Given the description of an element on the screen output the (x, y) to click on. 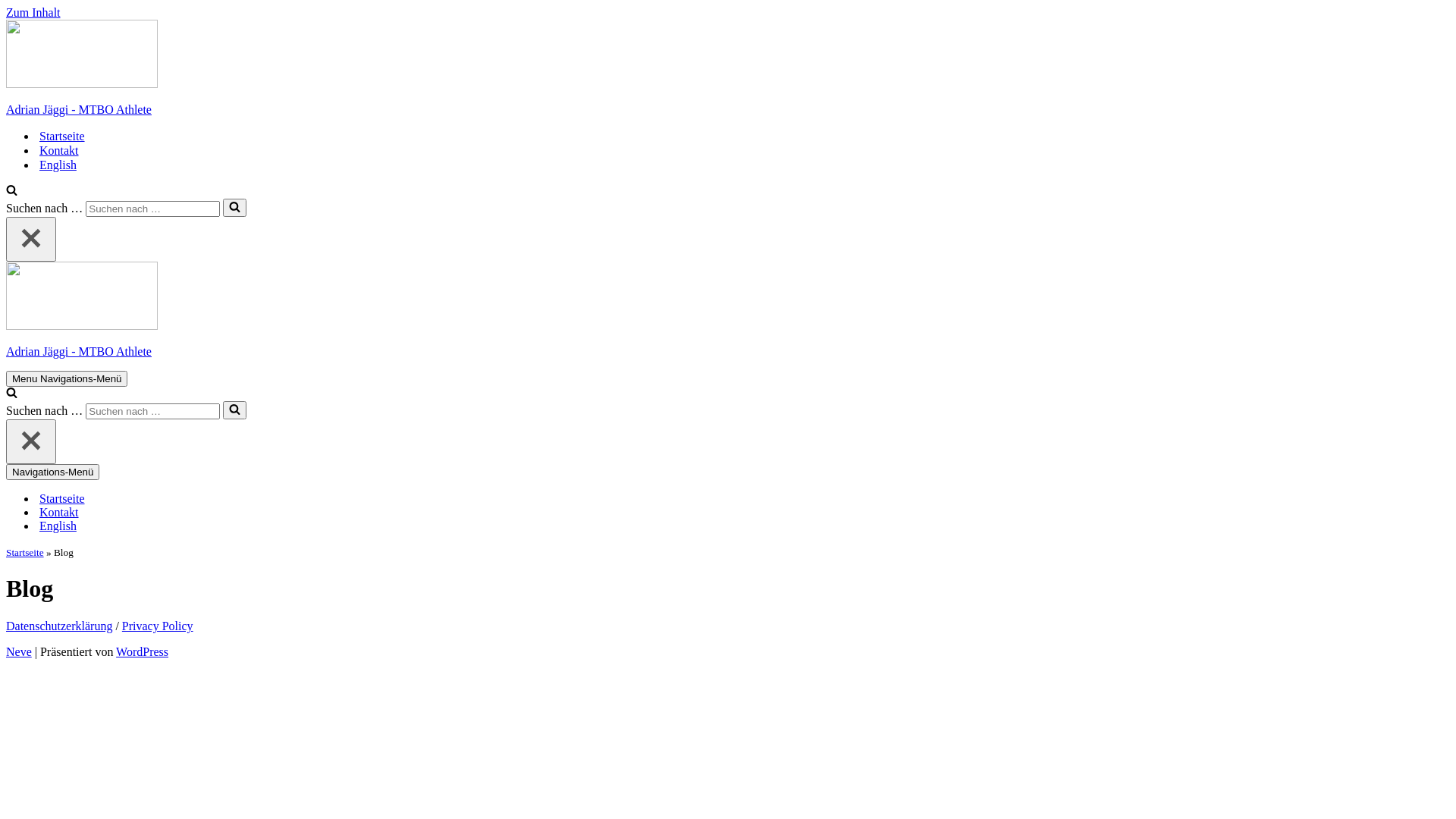
Neve Element type: text (18, 651)
Kontakt Element type: text (58, 512)
Privacy Policy Element type: text (157, 625)
English Element type: text (57, 526)
Zum Inhalt Element type: text (33, 12)
Startseite Element type: text (61, 135)
WordPress Element type: text (142, 651)
Startseite Element type: text (61, 498)
Startseite Element type: text (24, 552)
English Element type: text (57, 164)
Kontakt Element type: text (58, 150)
